Given the description of an element on the screen output the (x, y) to click on. 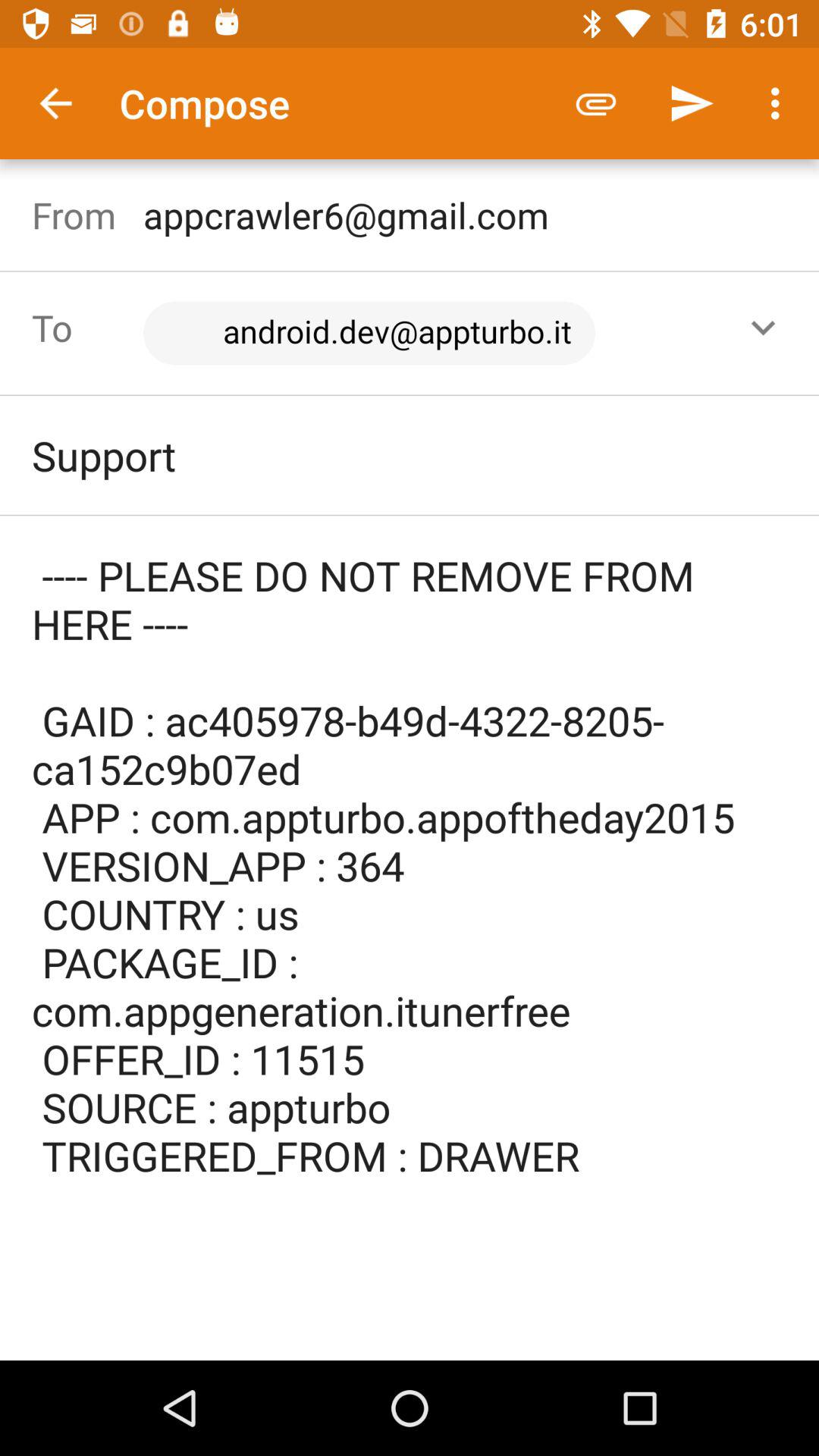
flip to support item (409, 454)
